Given the description of an element on the screen output the (x, y) to click on. 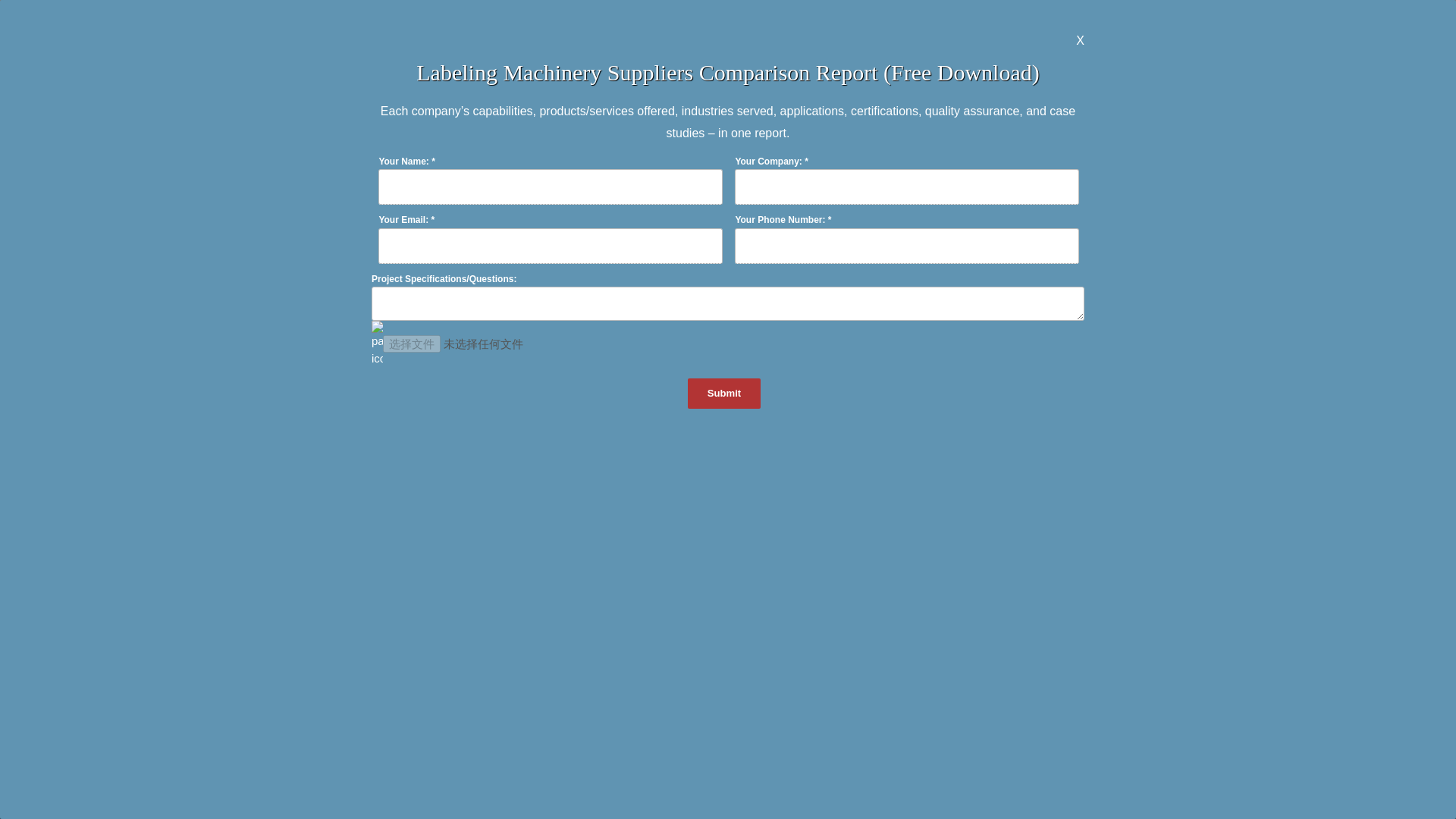
CO2 Lasers (727, 49)
Name Plates (235, 77)
Plastic Bags (1220, 49)
